Given the description of an element on the screen output the (x, y) to click on. 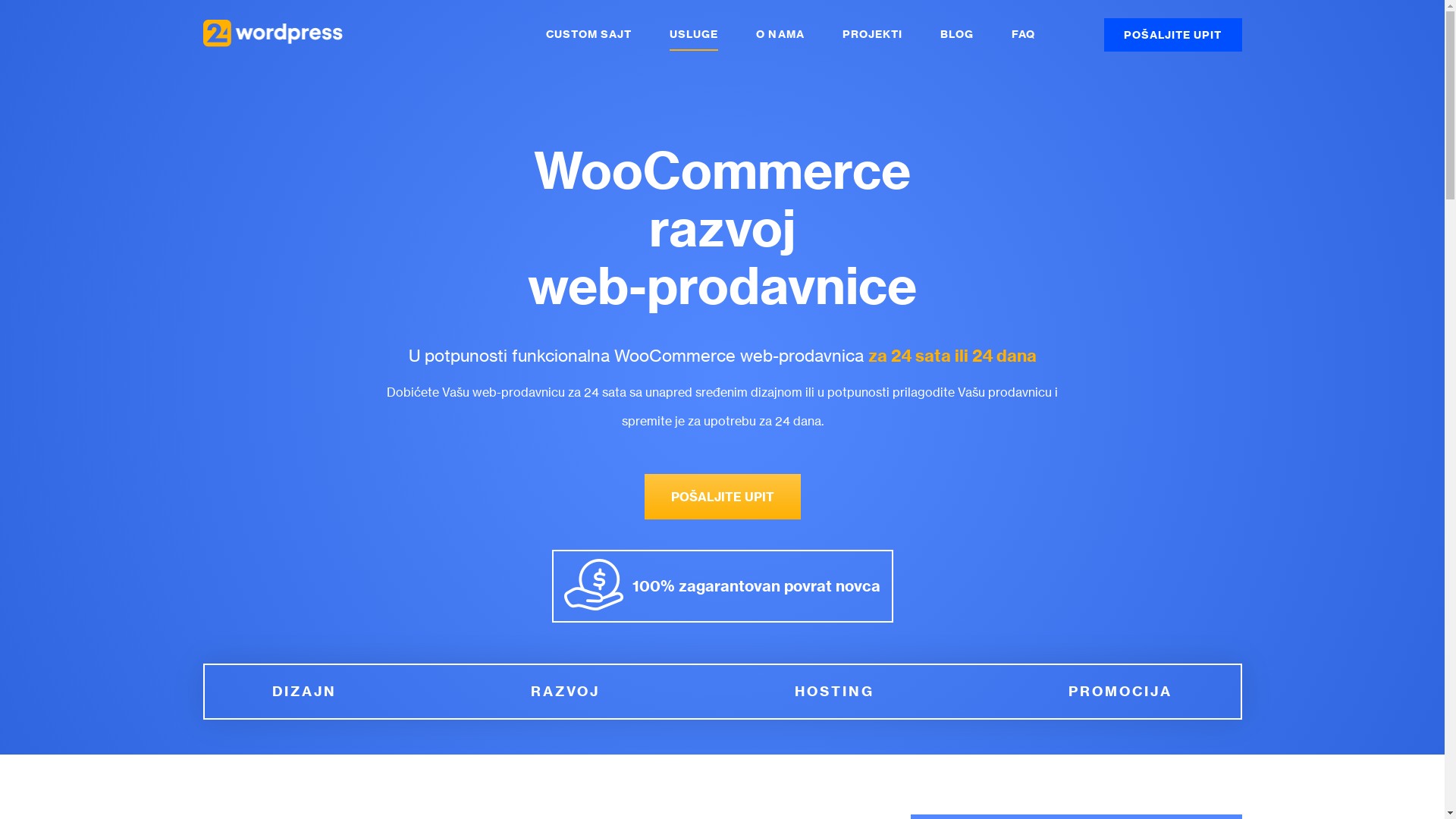
CUSTOM SAJT Element type: text (588, 34)
FAQ Element type: text (1023, 34)
USLUGE Element type: text (693, 34)
BLOG Element type: text (956, 34)
PROJEKTI Element type: text (872, 34)
O NAMA Element type: text (779, 34)
